Given the description of an element on the screen output the (x, y) to click on. 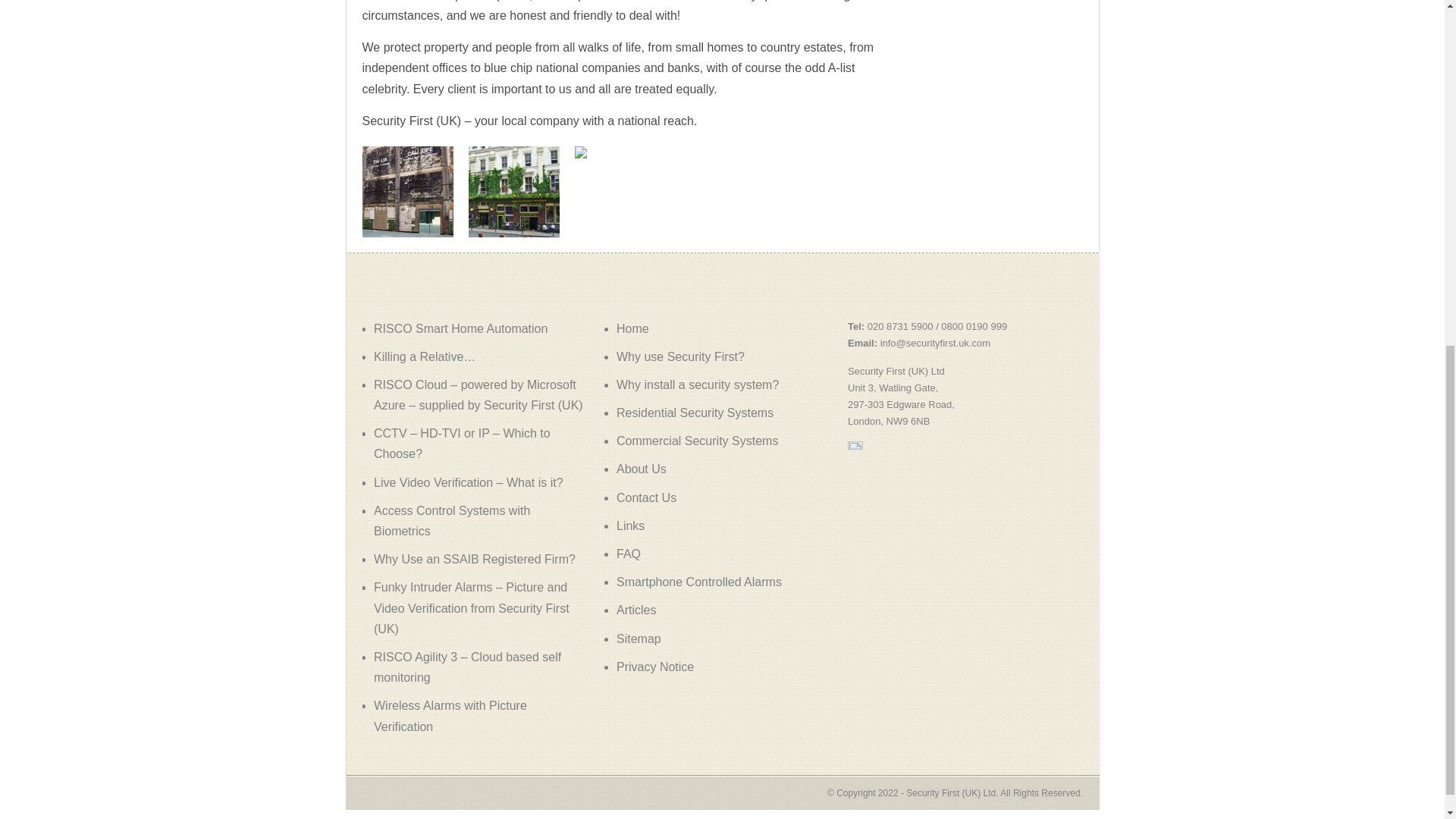
Why install a security system? (696, 384)
Links (630, 525)
Commercial Security Systems (696, 440)
About Us (640, 468)
Home (632, 328)
Smartphone Controlled Alarms (698, 581)
RISCO Smart Home Automation (460, 328)
Access Control Systems with Biometrics (451, 520)
Articles (635, 609)
About Us 1 (407, 191)
